Given the description of an element on the screen output the (x, y) to click on. 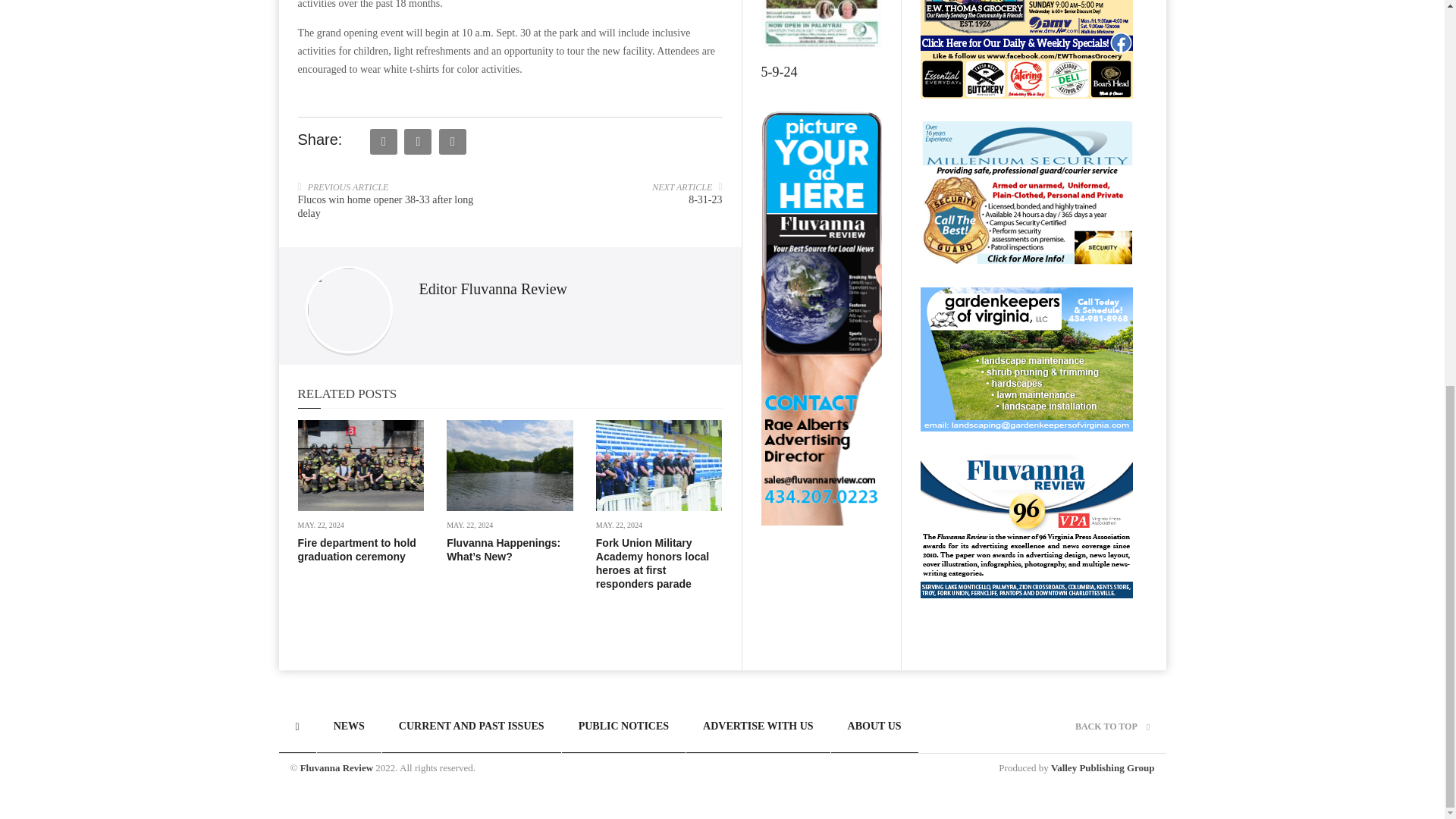
Flucos win home opener 38-33 after long delay (385, 206)
8-31-23 (705, 199)
Posts by Editor Fluvanna Review (493, 288)
BACK TO TOP (1112, 726)
